Given the description of an element on the screen output the (x, y) to click on. 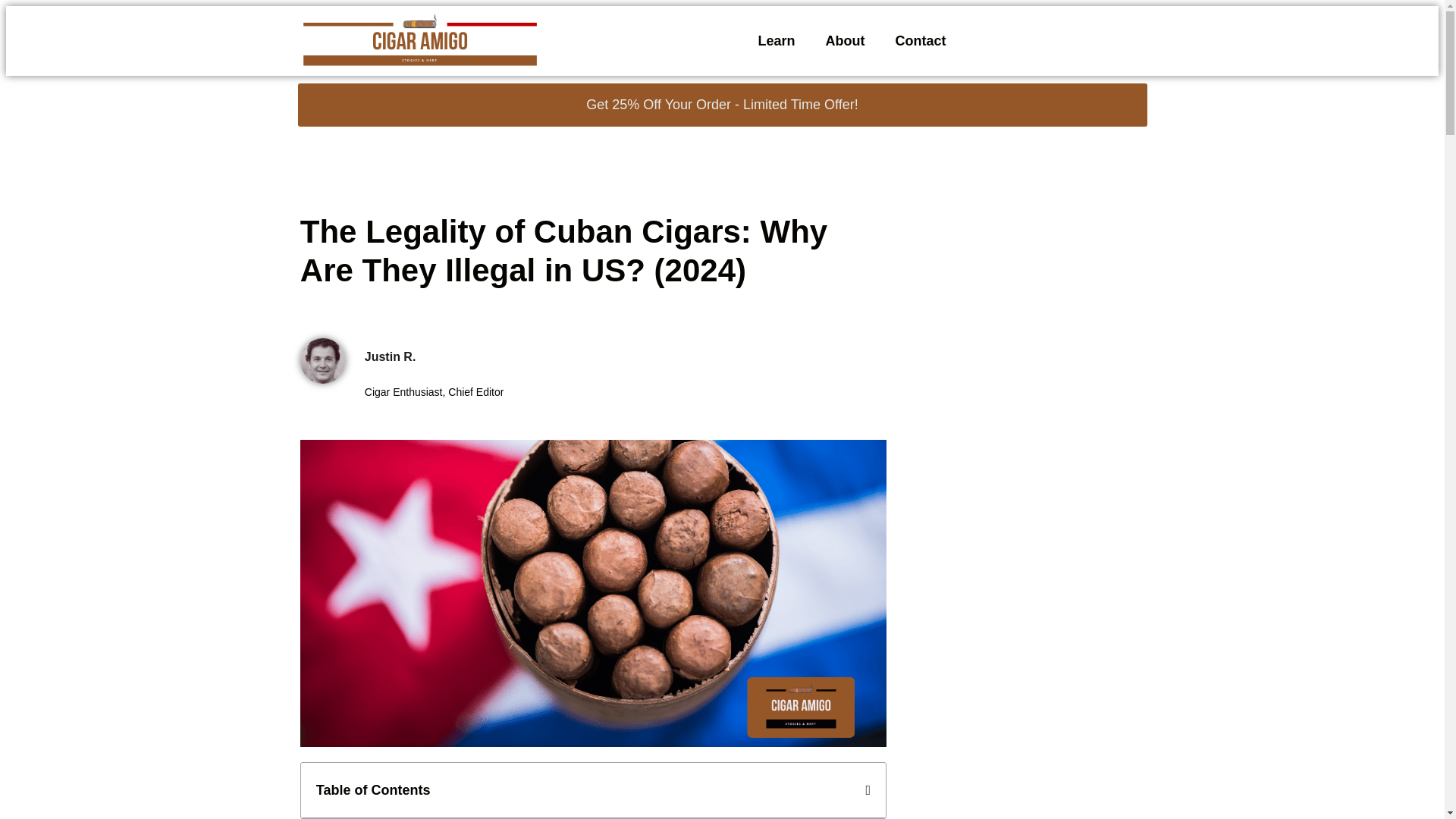
Contact (919, 40)
About (845, 40)
Learn (775, 40)
Justin R. (625, 356)
